Given the description of an element on the screen output the (x, y) to click on. 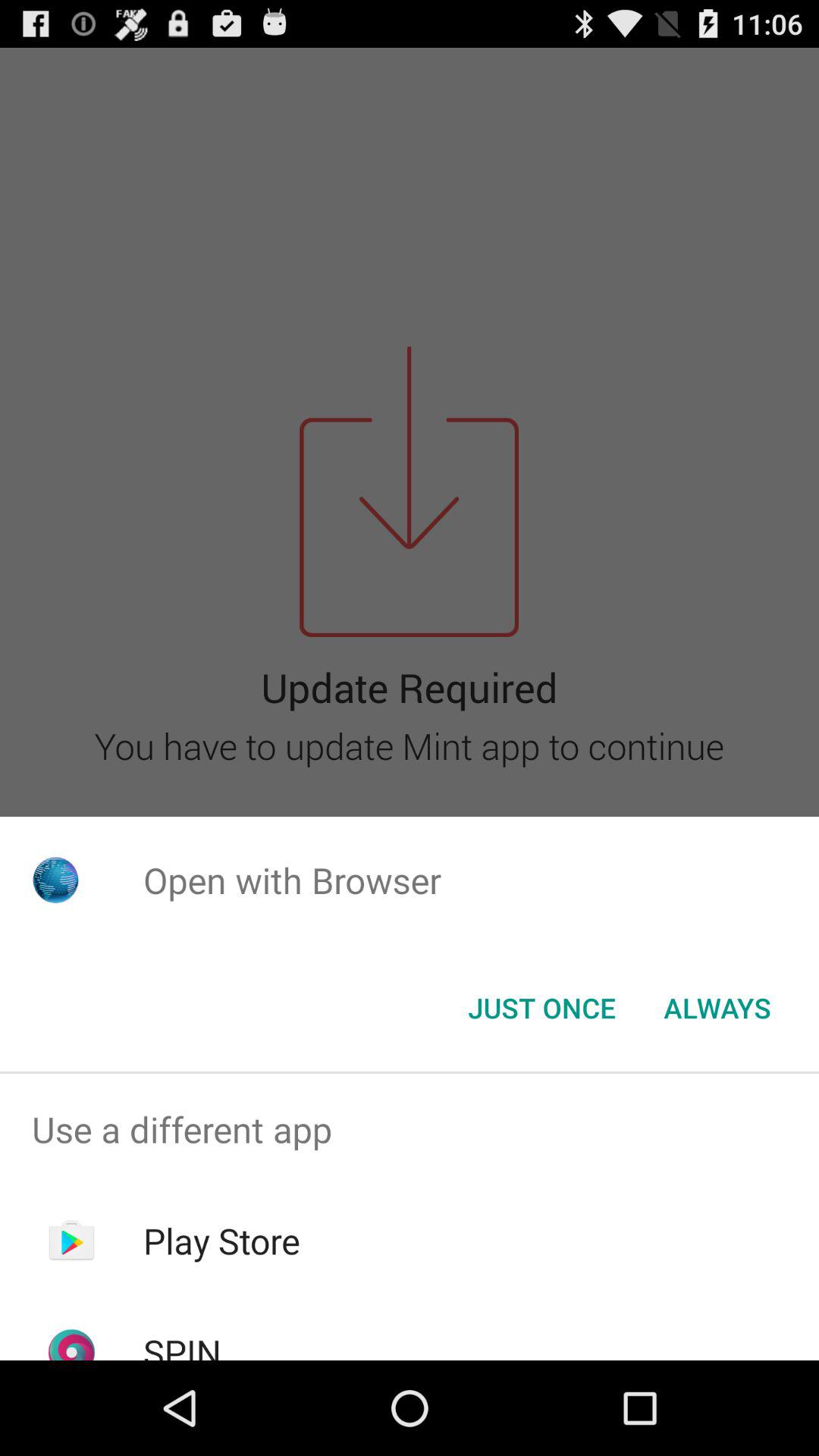
select just once (541, 1007)
